Given the description of an element on the screen output the (x, y) to click on. 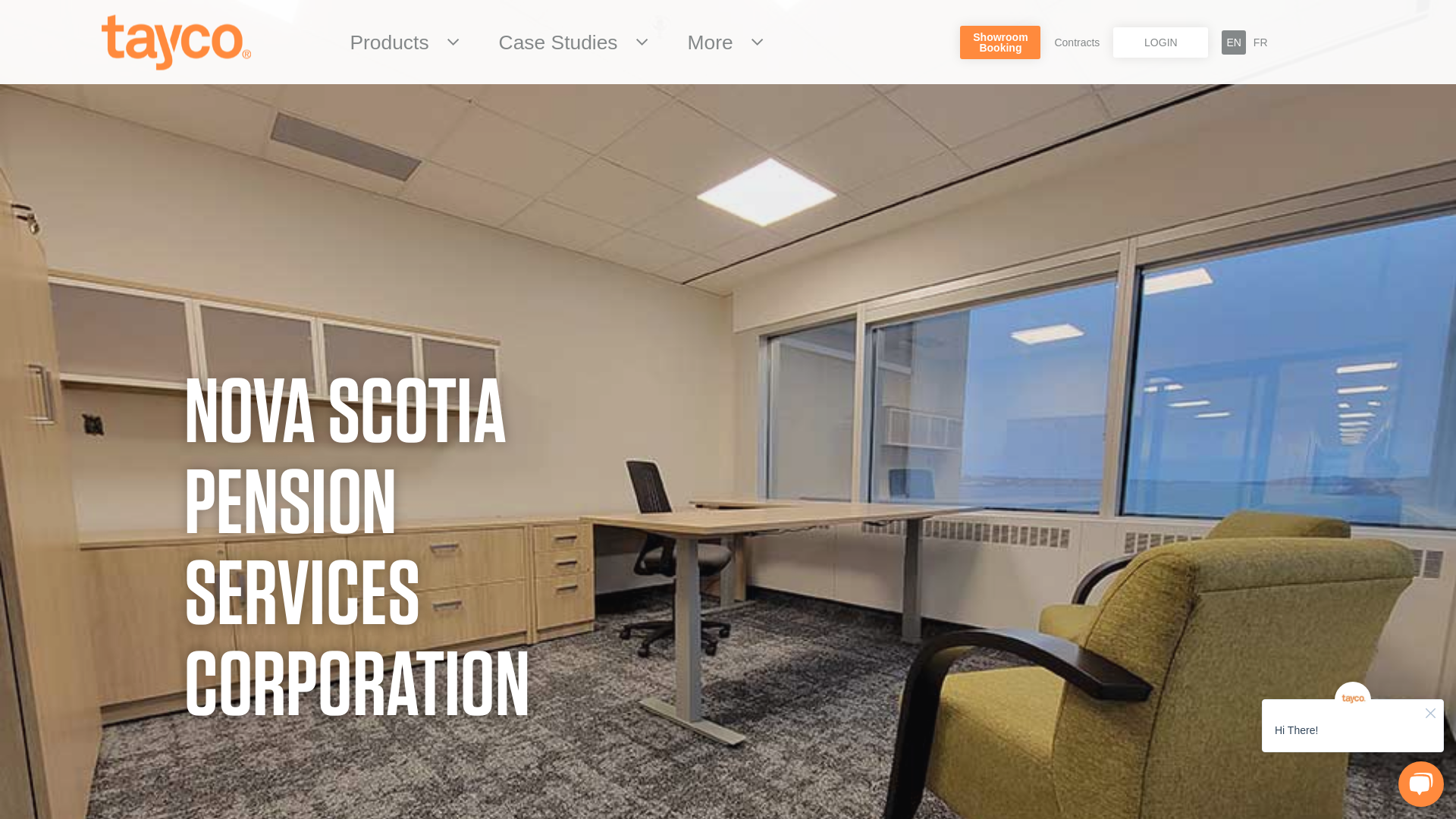
EN (1232, 42)
FR (1260, 42)
Tayco Home (175, 41)
LOGIN (1160, 42)
Case Studies (563, 42)
Contracts (1076, 42)
Products (715, 42)
Showroom Booking (392, 42)
